Given the description of an element on the screen output the (x, y) to click on. 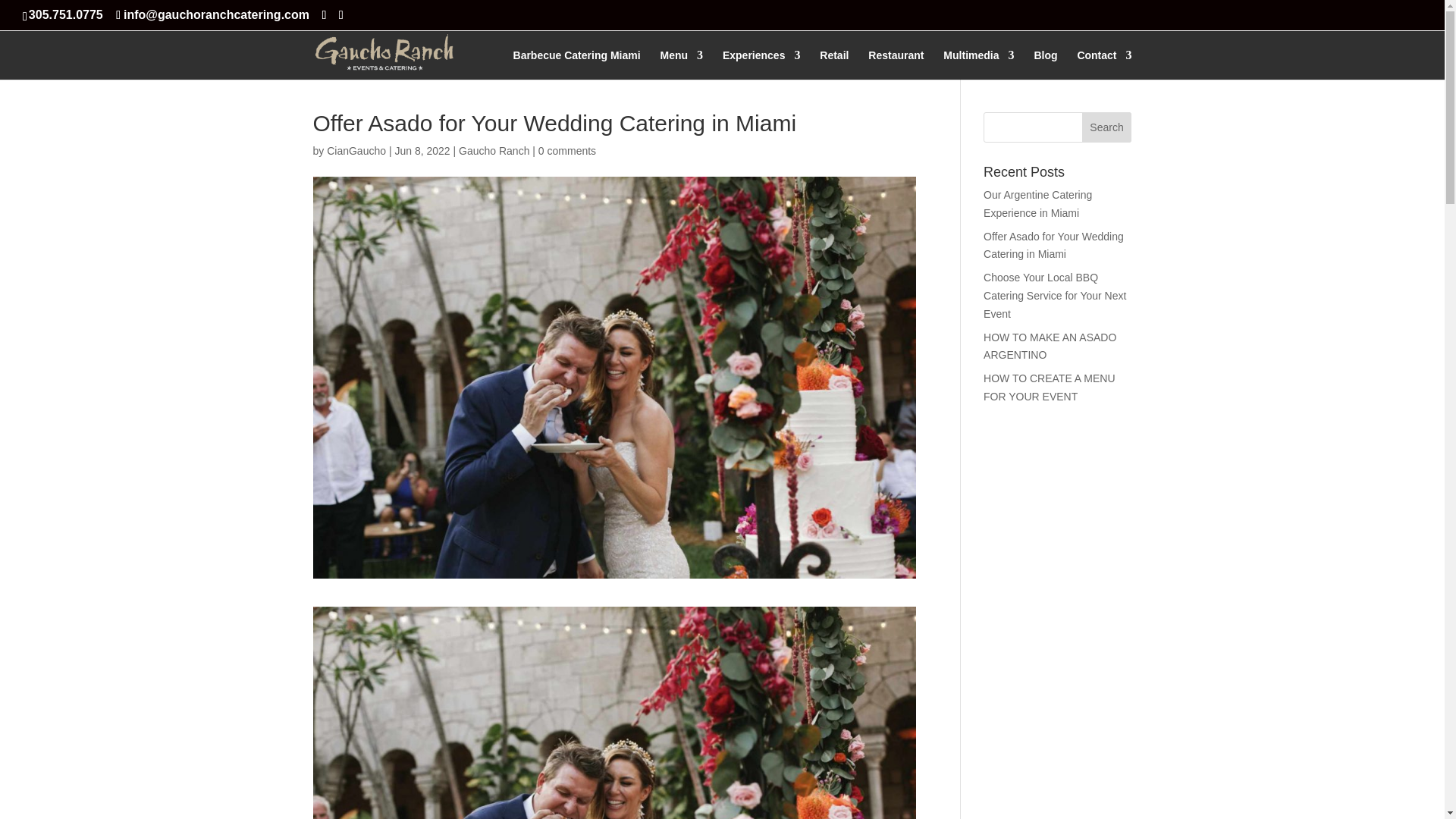
Experiences (761, 64)
Posts by CianGaucho (355, 150)
Multimedia (978, 64)
Search (1106, 127)
Menu (681, 64)
CianGaucho (355, 150)
Retail (833, 64)
Contact (1104, 64)
Blog (1045, 64)
Barbecue Catering Miami (576, 64)
Gaucho Ranch (493, 150)
Restaurant (895, 64)
